Given the description of an element on the screen output the (x, y) to click on. 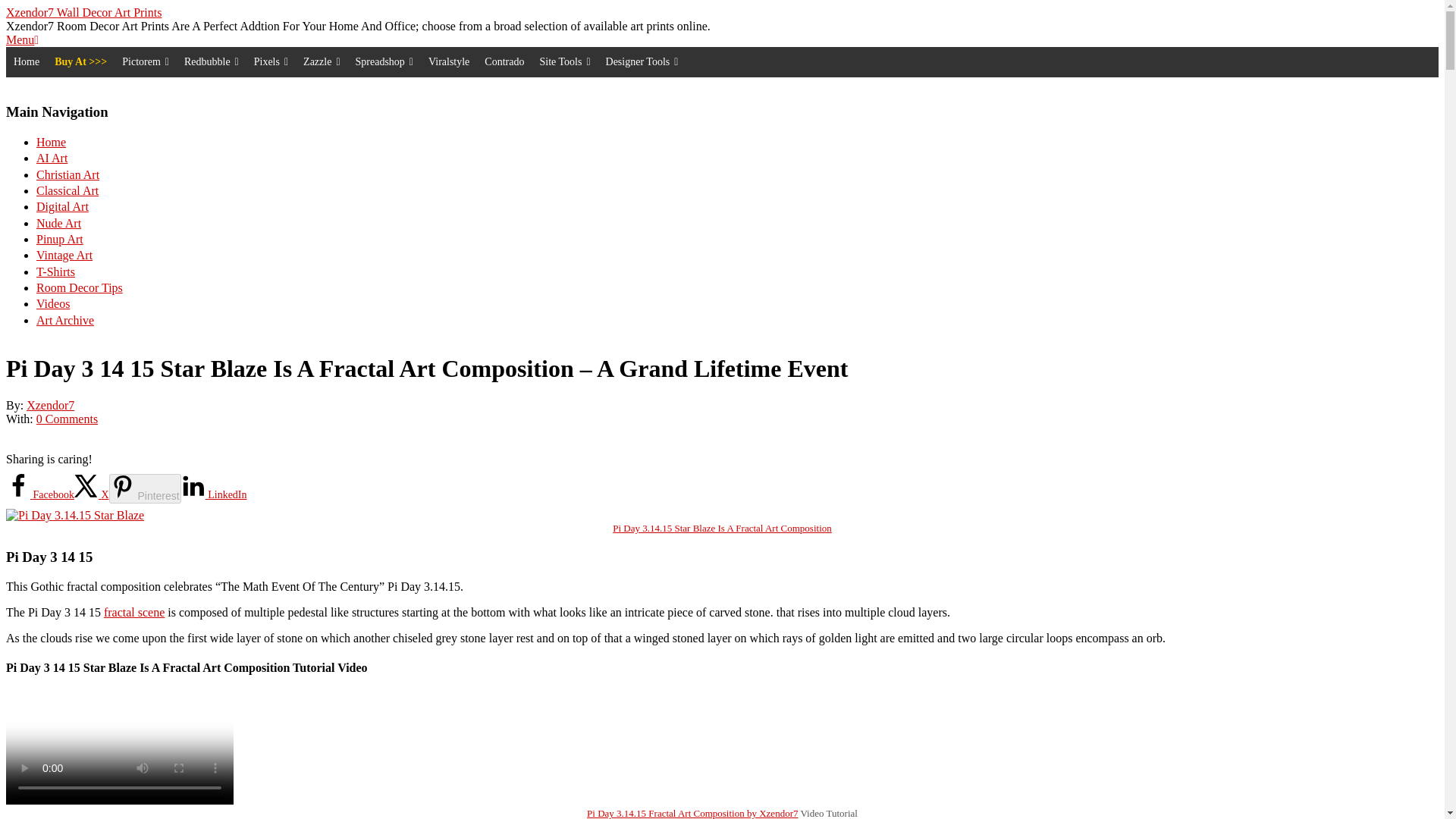
Share on LinkedIn (213, 494)
Xzendor7 Wall Decor Art Prints (83, 11)
Menu (22, 39)
Home (25, 61)
Share on Facebook (39, 494)
Posts by Xzendor7 (50, 404)
Save to Pinterest (144, 488)
Share on X (91, 494)
Redbubble (211, 61)
Pictorem (145, 61)
